Given the description of an element on the screen output the (x, y) to click on. 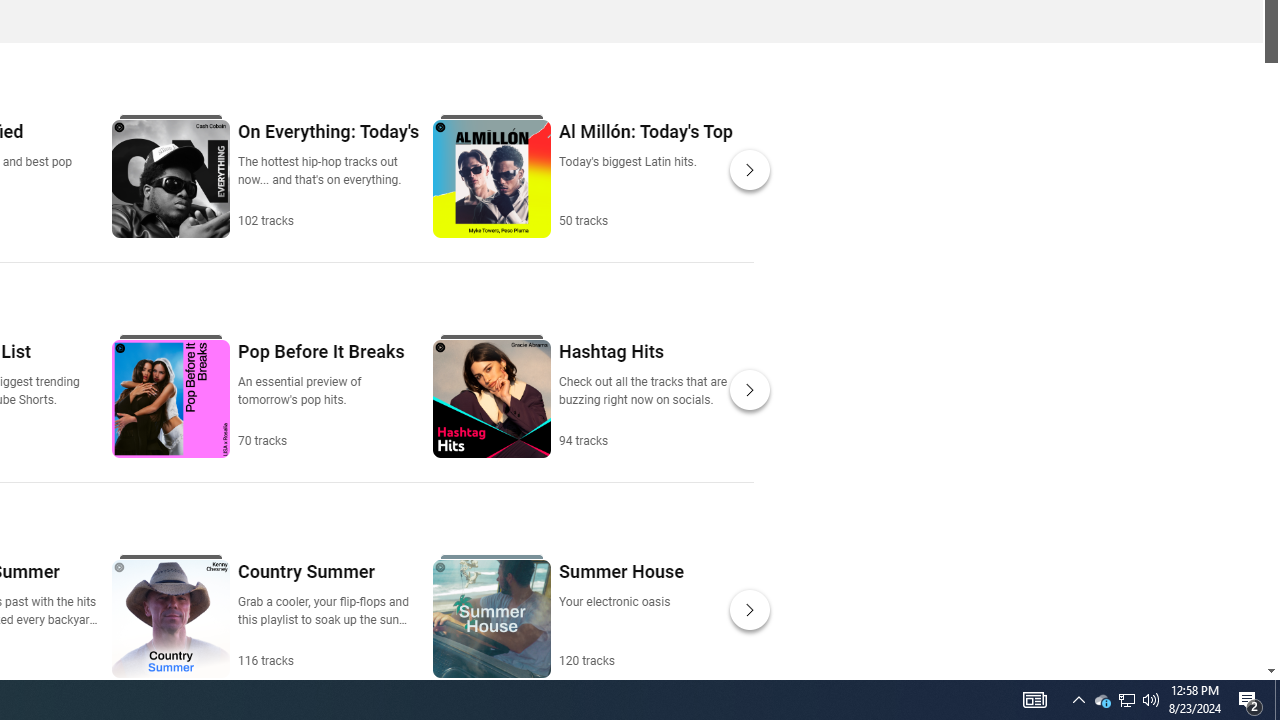
Summer House Your electronic oasis 120 tracks (620, 614)
